Given the description of an element on the screen output the (x, y) to click on. 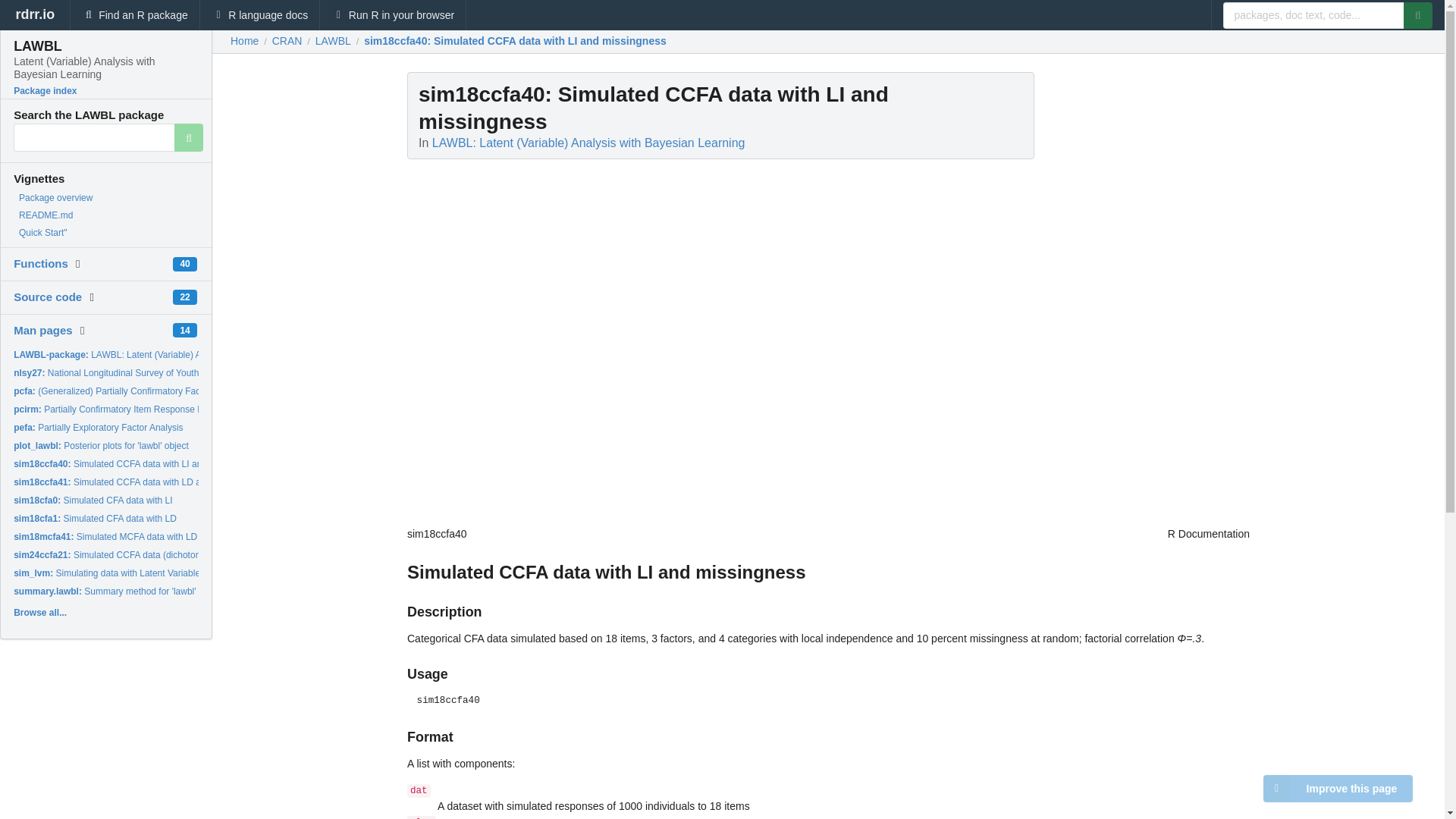
CRAN (287, 40)
sim18ccfa40: Simulated CCFA data with LI and missingness (515, 40)
Browse all... (39, 612)
R language docs (260, 15)
pefa: Partially Exploratory Factor Analysis (98, 427)
pcirm: Partially Confirmatory Item Response Model (117, 409)
Source code (47, 296)
Package overview (55, 197)
nlsy27: National Longitudinal Survey of Youth 1997 (117, 372)
LAWBL (332, 40)
Run R in your browser (392, 15)
sim18mcfa41: Simulated MCFA data with LD and Missingness (140, 536)
Man pages (42, 329)
Find an R package (134, 15)
Home (244, 40)
